Given the description of an element on the screen output the (x, y) to click on. 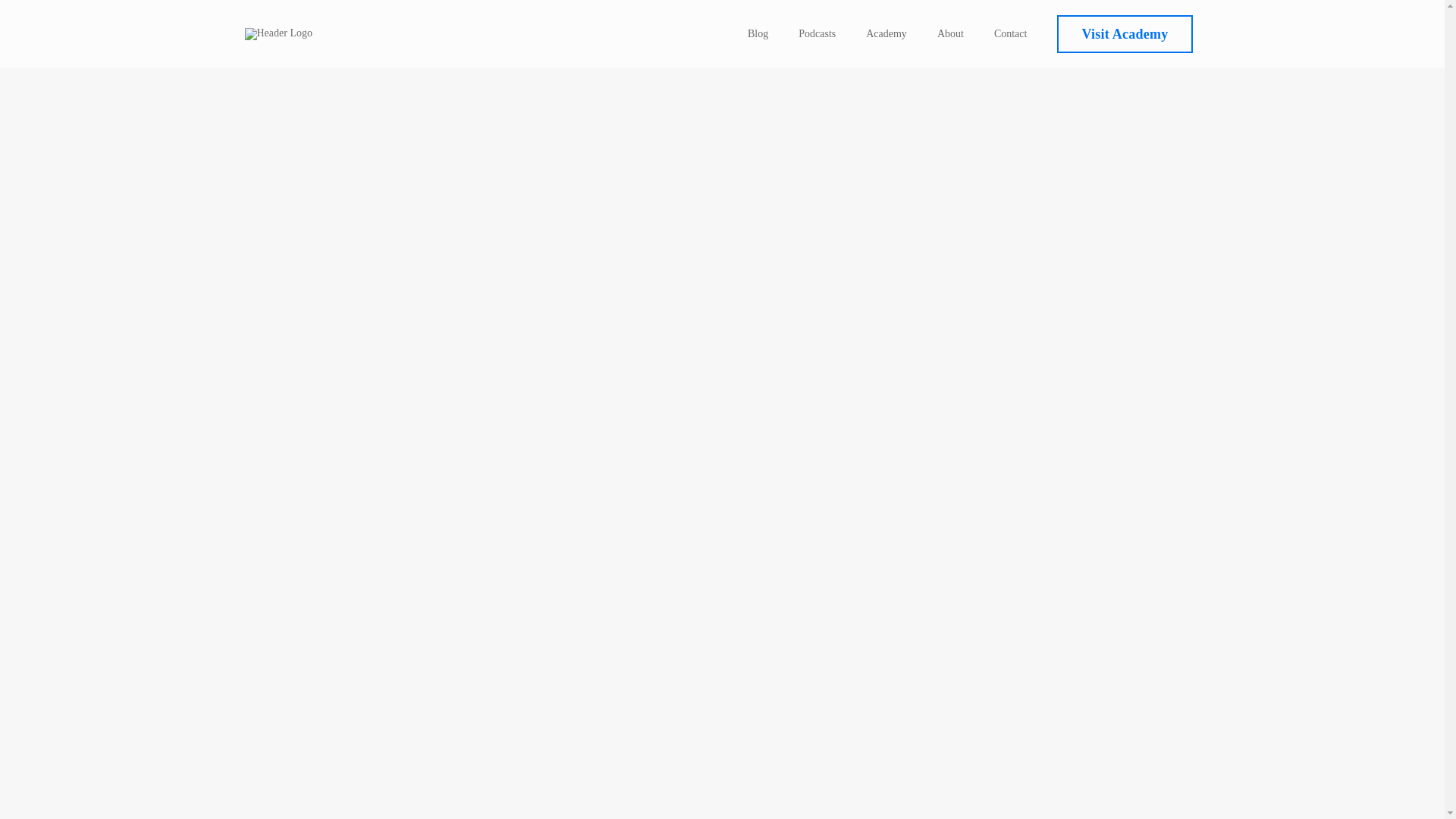
Blog (758, 33)
Academy (886, 33)
Podcasts (816, 33)
About (950, 33)
Contact (1010, 33)
Visit Academy (1124, 34)
